Given the description of an element on the screen output the (x, y) to click on. 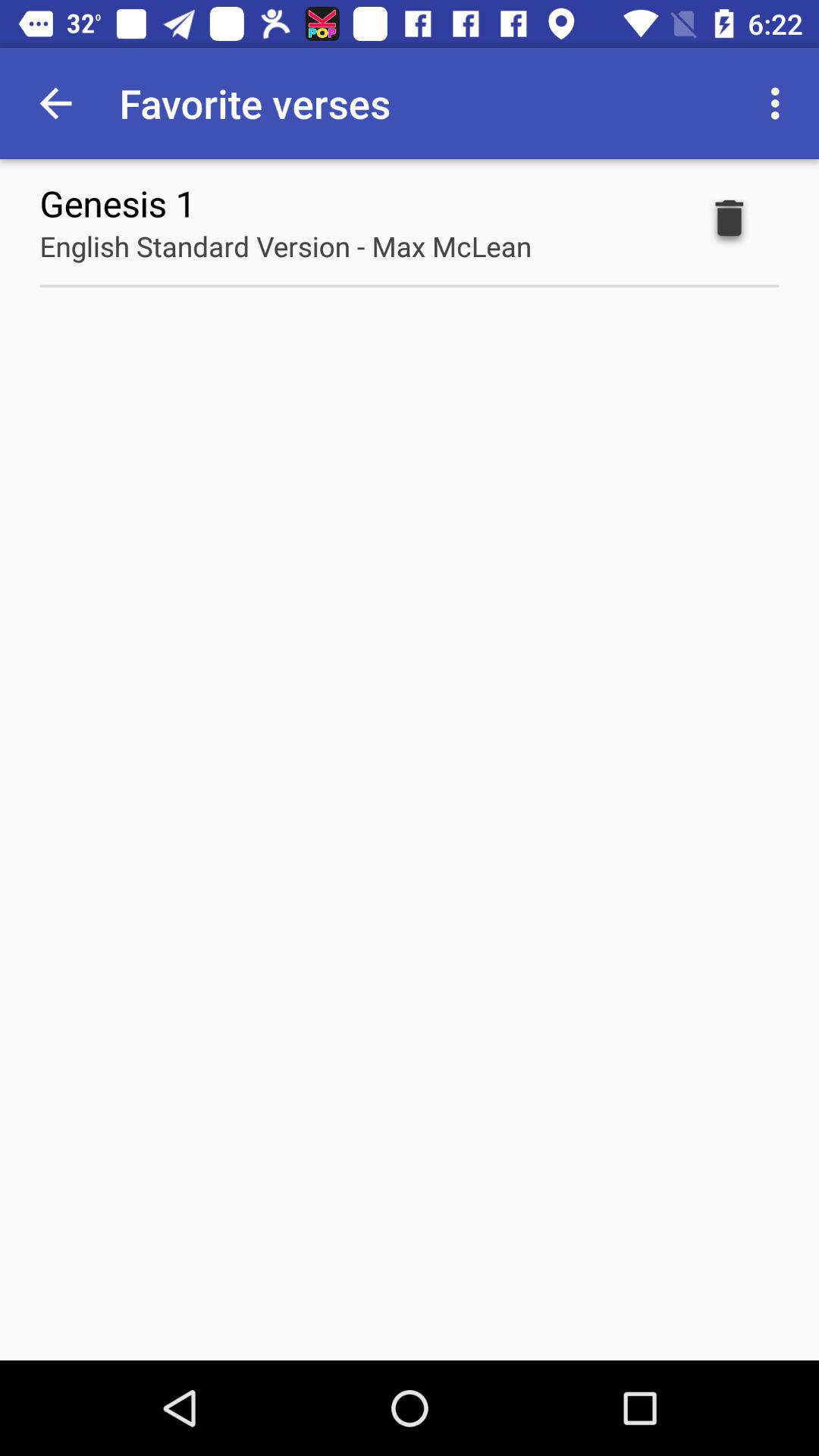
select the english standard version icon (285, 246)
